Given the description of an element on the screen output the (x, y) to click on. 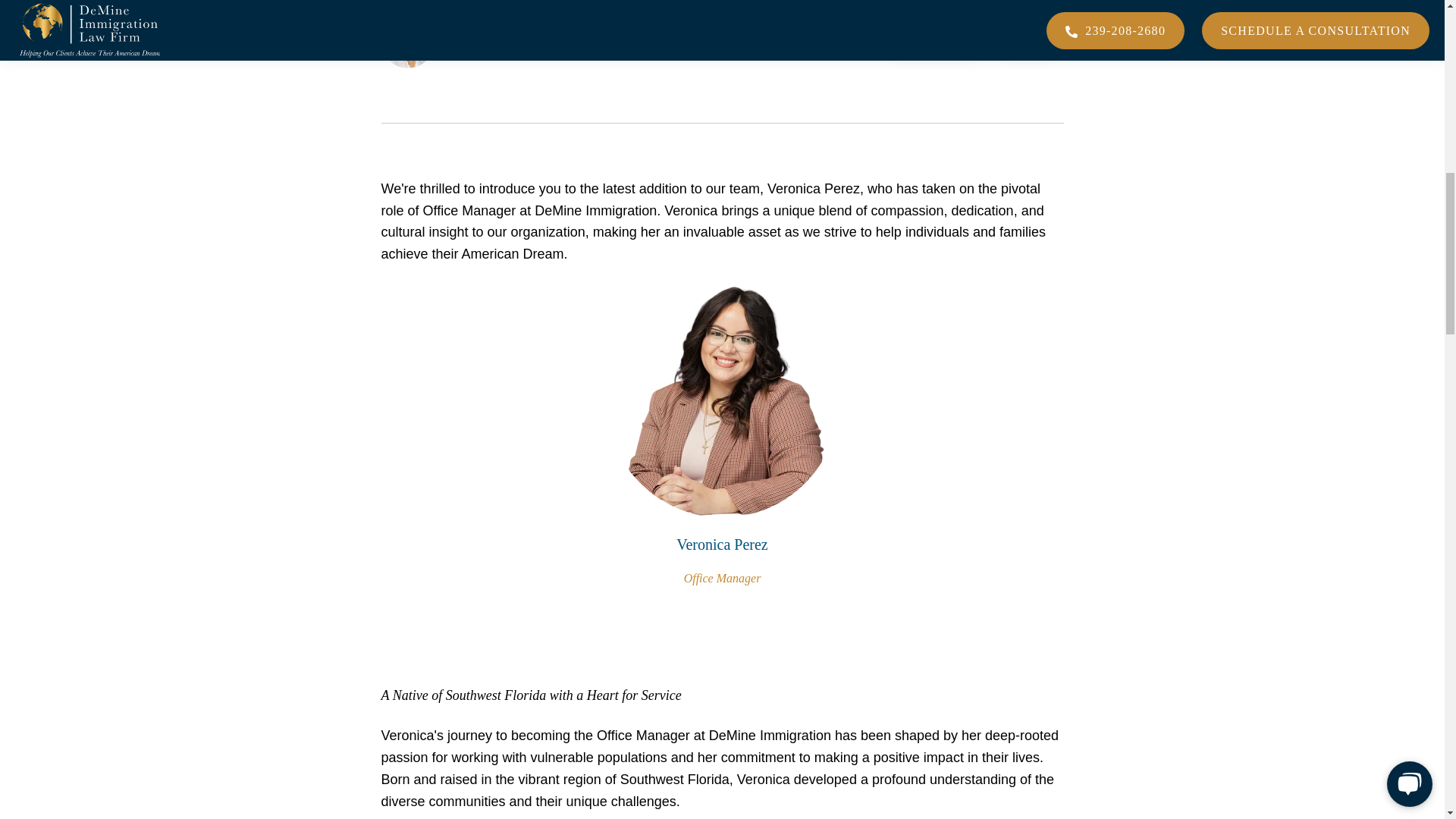
Firm Updates (932, 41)
